Given the description of an element on the screen output the (x, y) to click on. 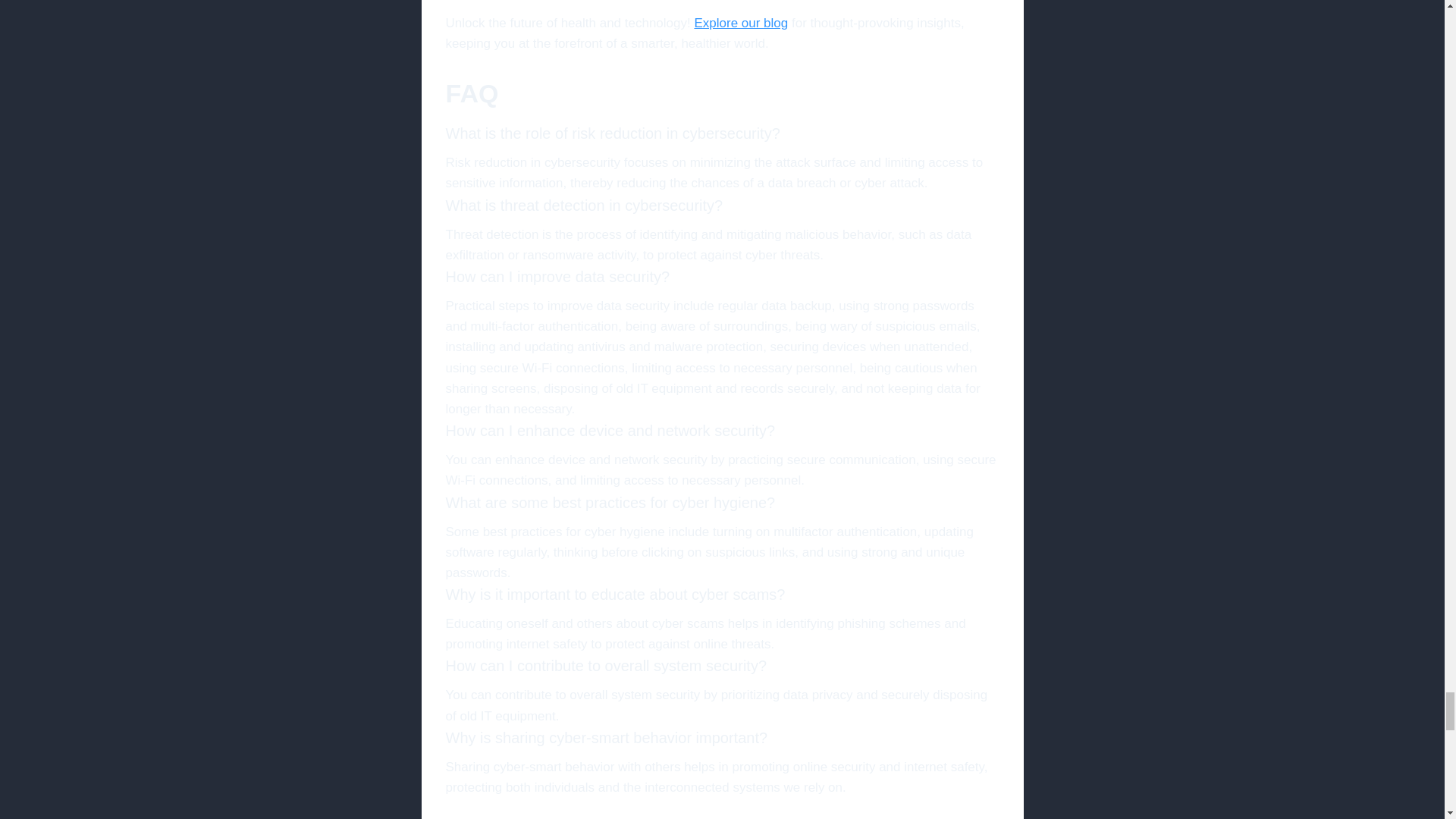
Explore our blog (740, 22)
